Given the description of an element on the screen output the (x, y) to click on. 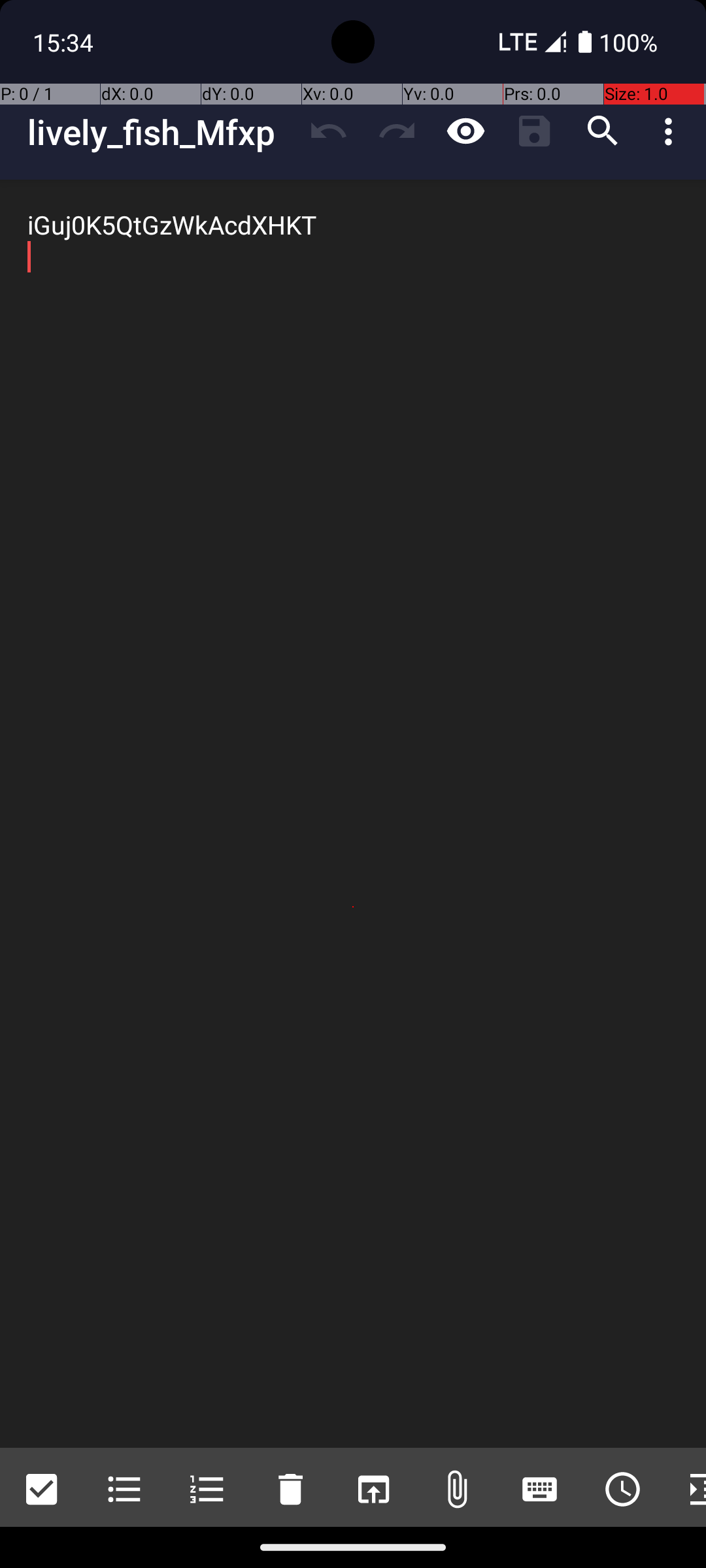
lively_fish_Mfxp Element type: android.widget.TextView (160, 131)
iGuj0K5QtGzWkAcdXHKT
 Element type: android.widget.EditText (353, 813)
